Given the description of an element on the screen output the (x, y) to click on. 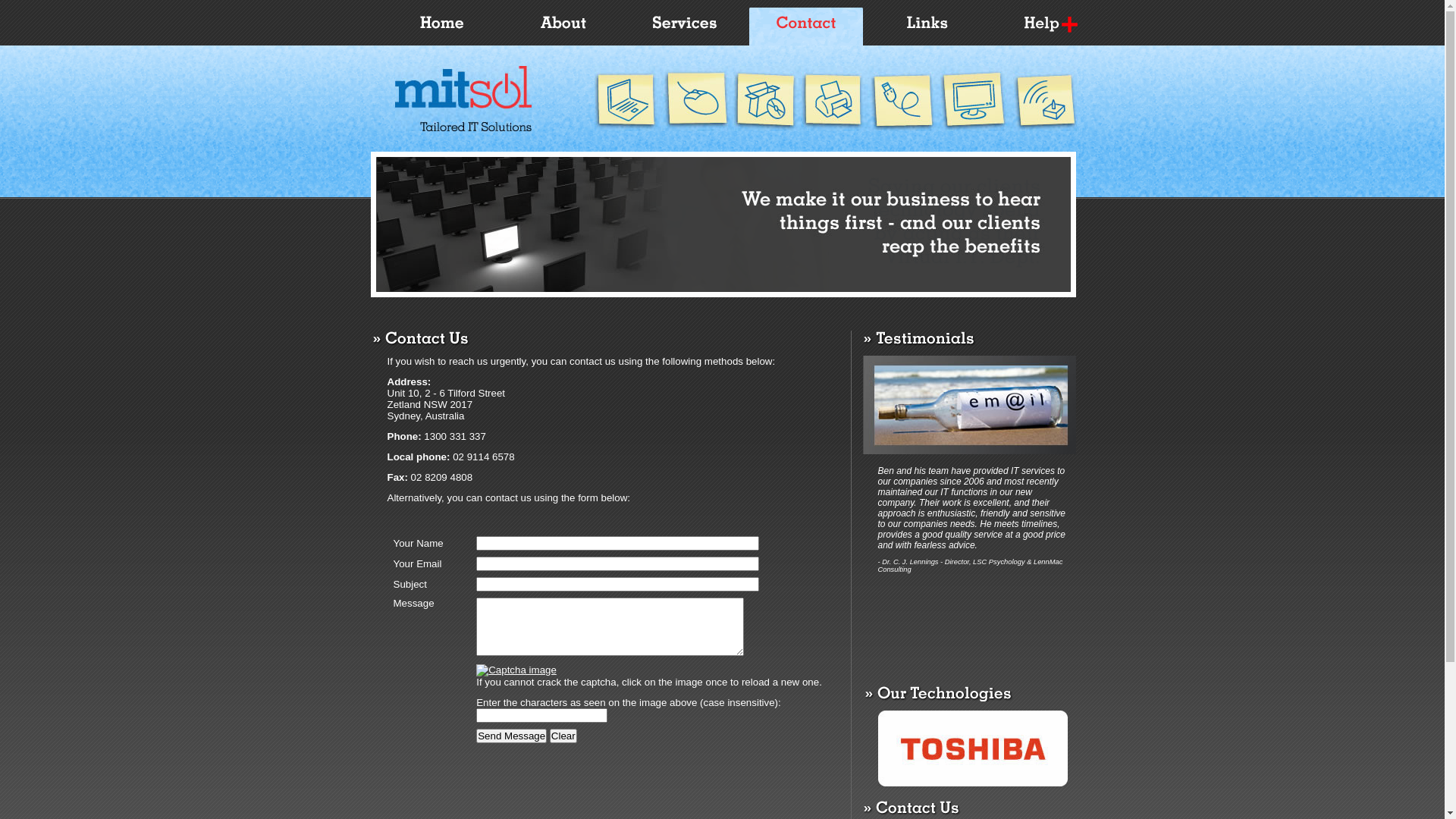
Send Message Element type: text (511, 735)
0 Element type: text (930, 26)
0 Element type: text (688, 26)
0 Element type: text (566, 26)
0 Element type: text (445, 26)
Click to refresh image Element type: hover (516, 669)
0 Element type: text (1052, 26)
0 Element type: text (809, 26)
